Given the description of an element on the screen output the (x, y) to click on. 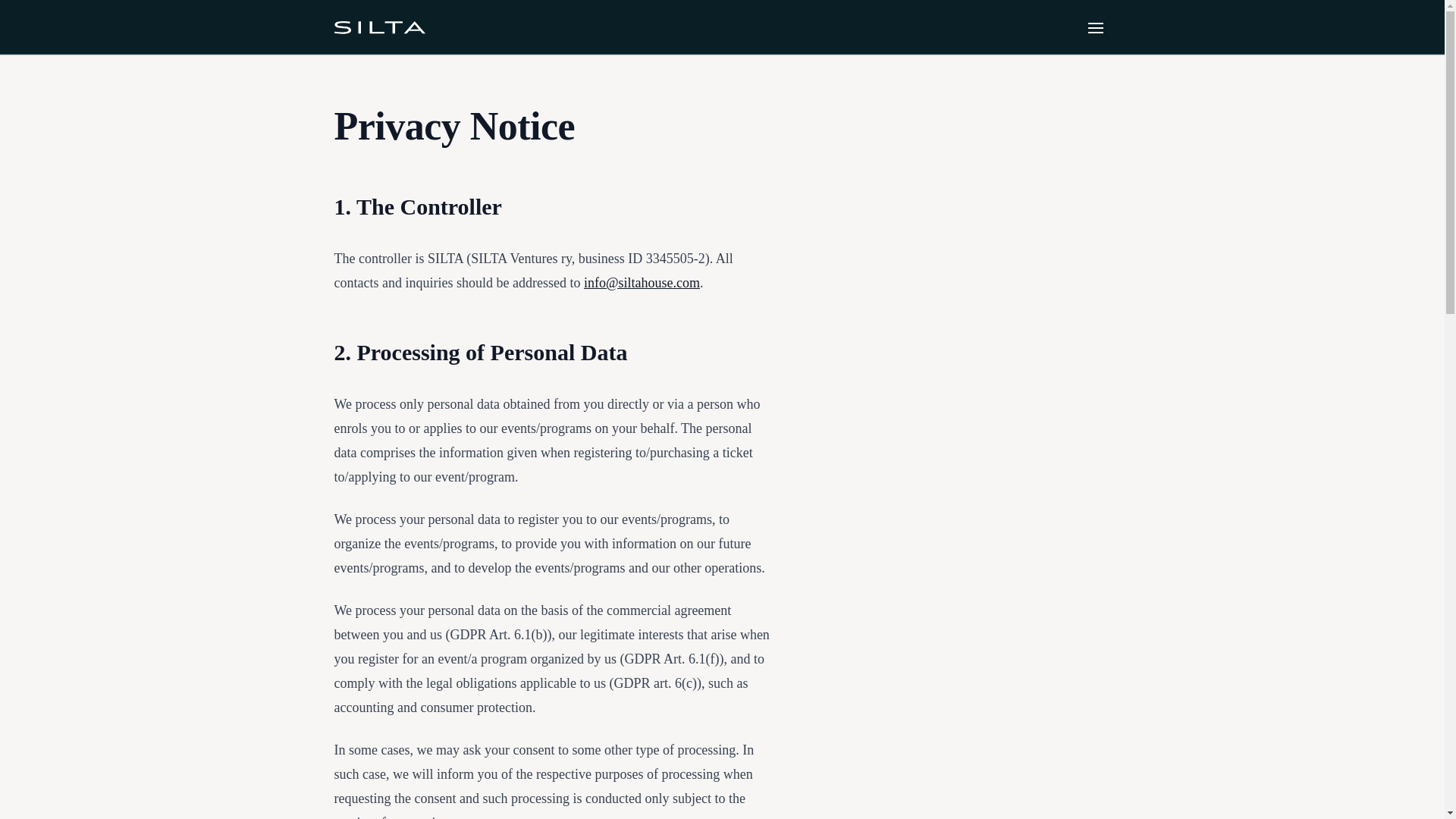
Silta (379, 26)
Open main menu (1094, 27)
